Given the description of an element on the screen output the (x, y) to click on. 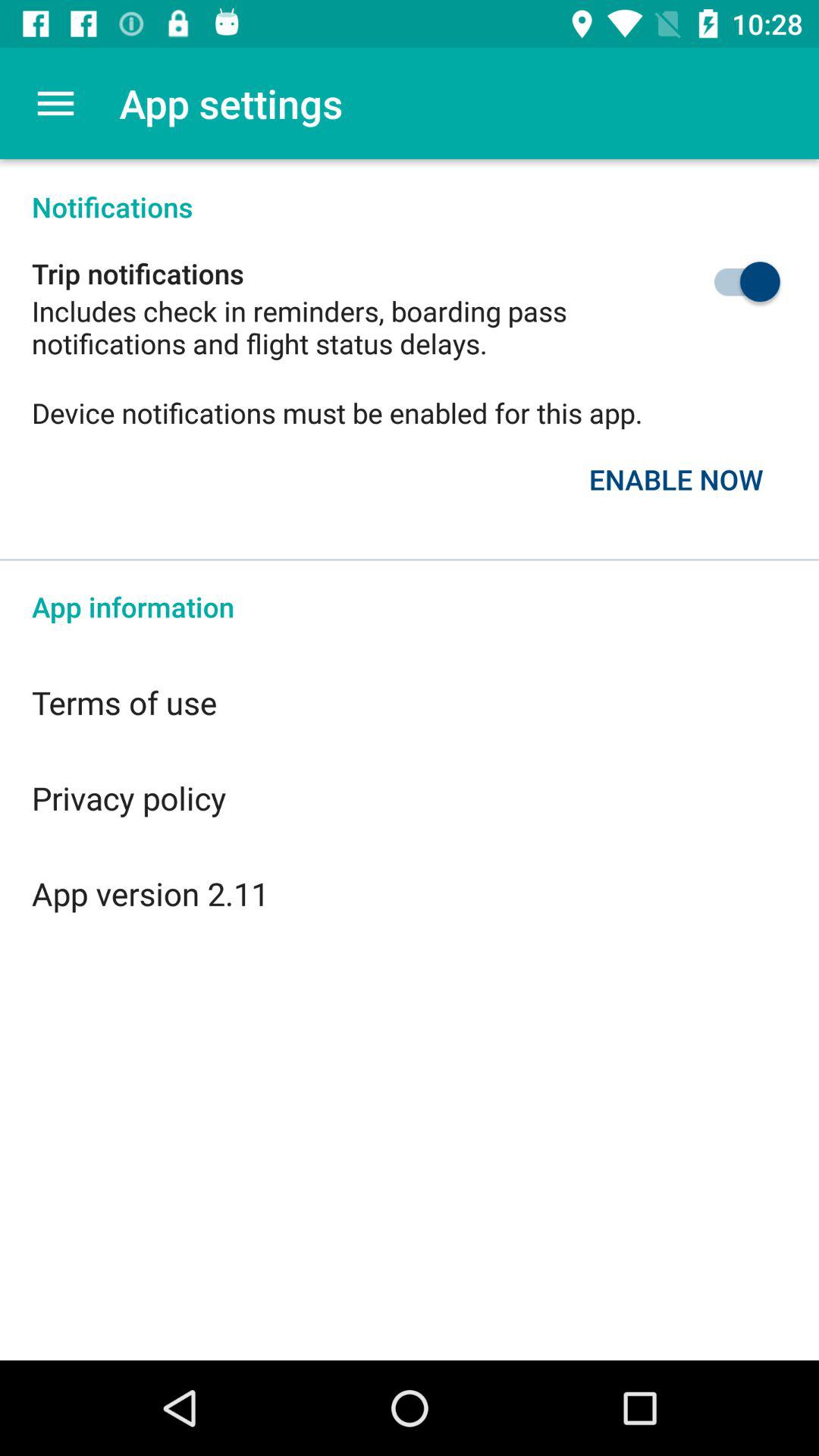
tap the privacy policy item (409, 797)
